Given the description of an element on the screen output the (x, y) to click on. 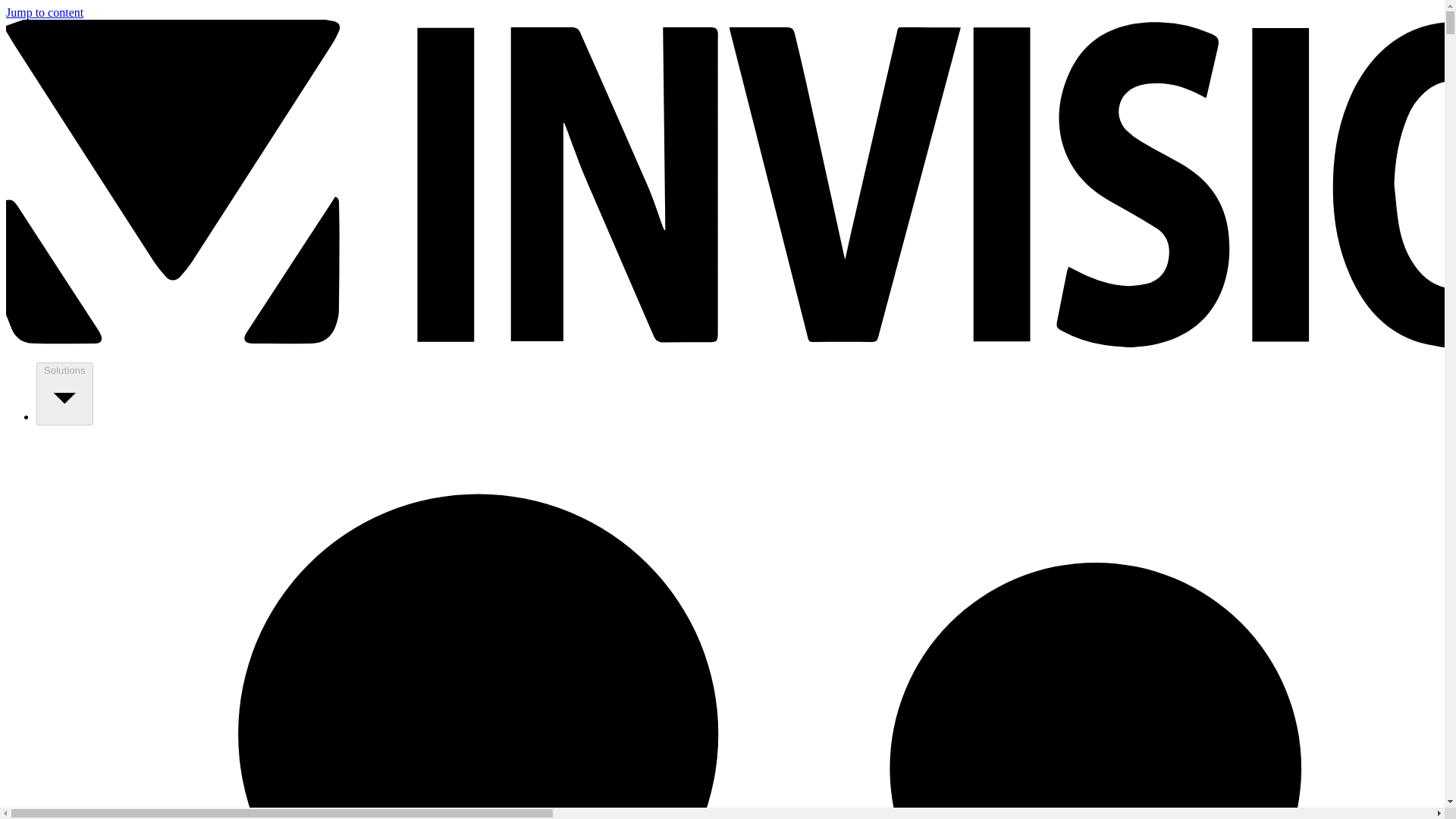
Jump to content (43, 11)
Go to main content on this page (43, 11)
Solutions (64, 393)
